Given the description of an element on the screen output the (x, y) to click on. 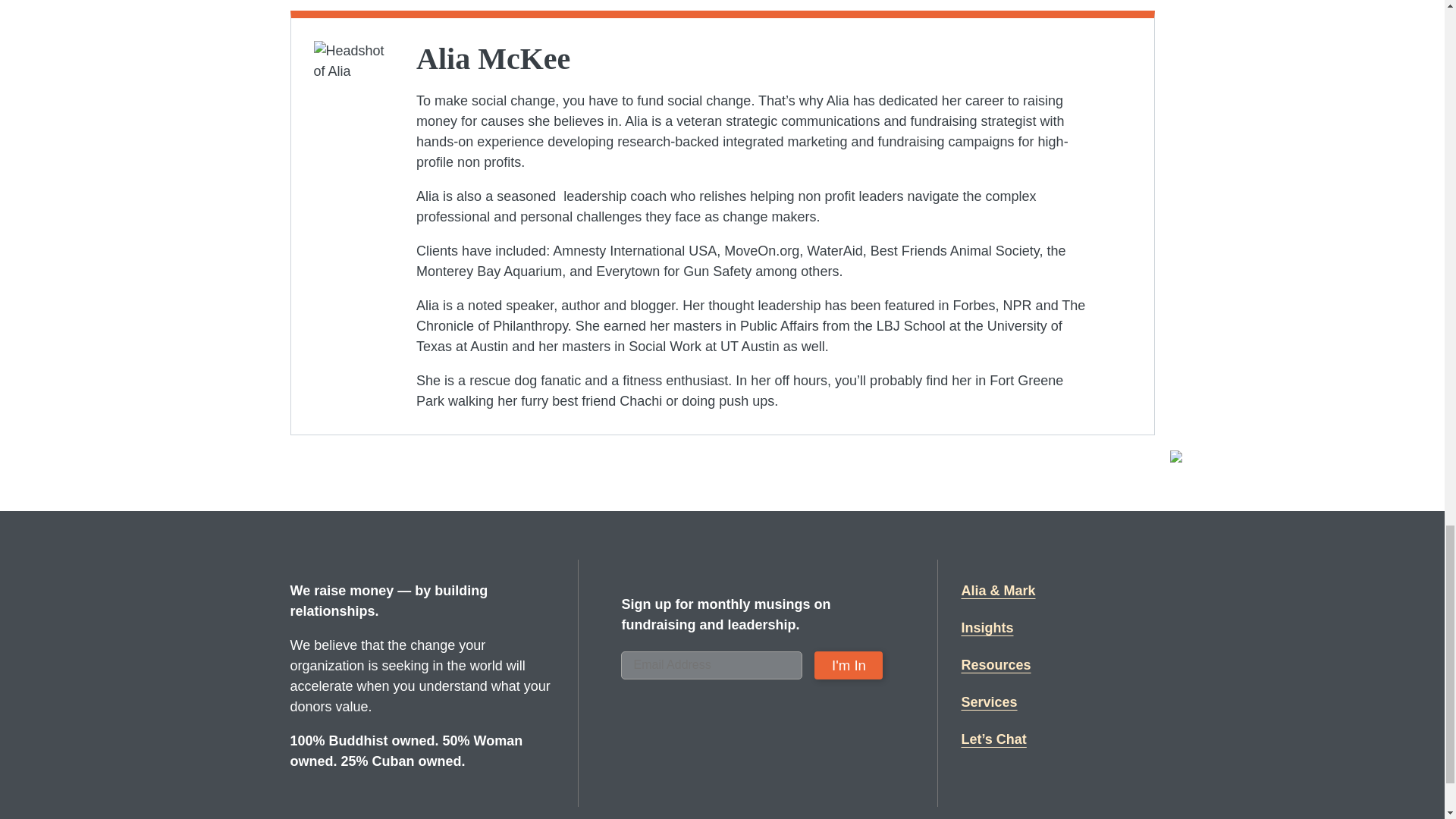
Insights (986, 628)
I'm In (847, 665)
Services (988, 702)
Resources (995, 665)
I'm In (847, 665)
